Given the description of an element on the screen output the (x, y) to click on. 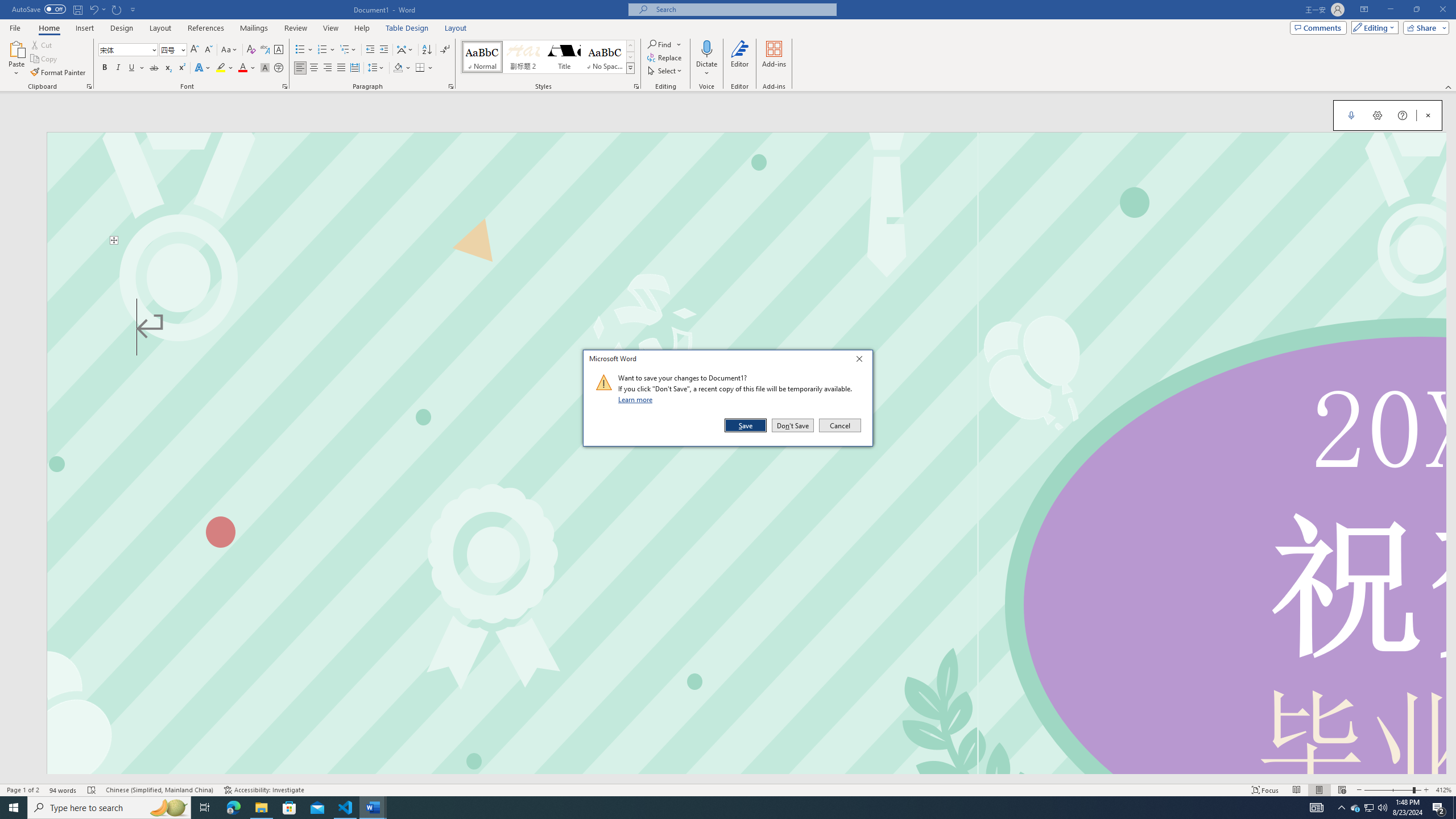
Microsoft search (742, 9)
